Given the description of an element on the screen output the (x, y) to click on. 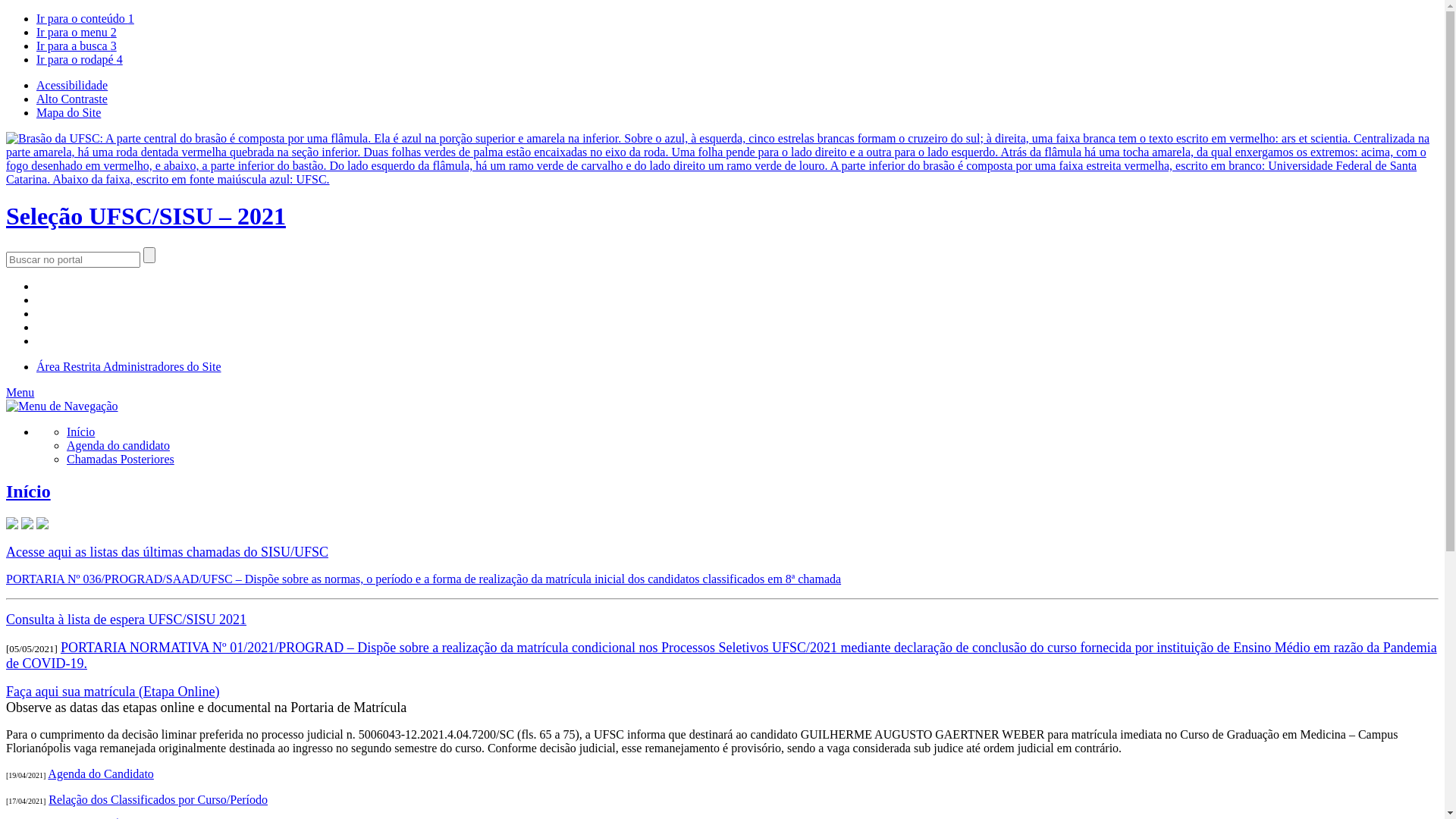
Compartilhar no Twitter Element type: hover (12, 524)
Compartilhar no Facebook Element type: hover (27, 524)
Menu Element type: text (20, 391)
Administradores do Site Element type: text (162, 366)
Compartilhar no WhatsApp Element type: hover (42, 524)
Acessibilidade Element type: text (71, 84)
Alto Contraste Element type: text (71, 98)
Ir para a busca 3 Element type: text (76, 45)
Mapa do Site Element type: text (68, 112)
Chamadas Posteriores Element type: text (120, 458)
Agenda do candidato Element type: text (117, 445)
Ir para o menu 2 Element type: text (76, 31)
Agenda do Candidato Element type: text (100, 773)
